Given the description of an element on the screen output the (x, y) to click on. 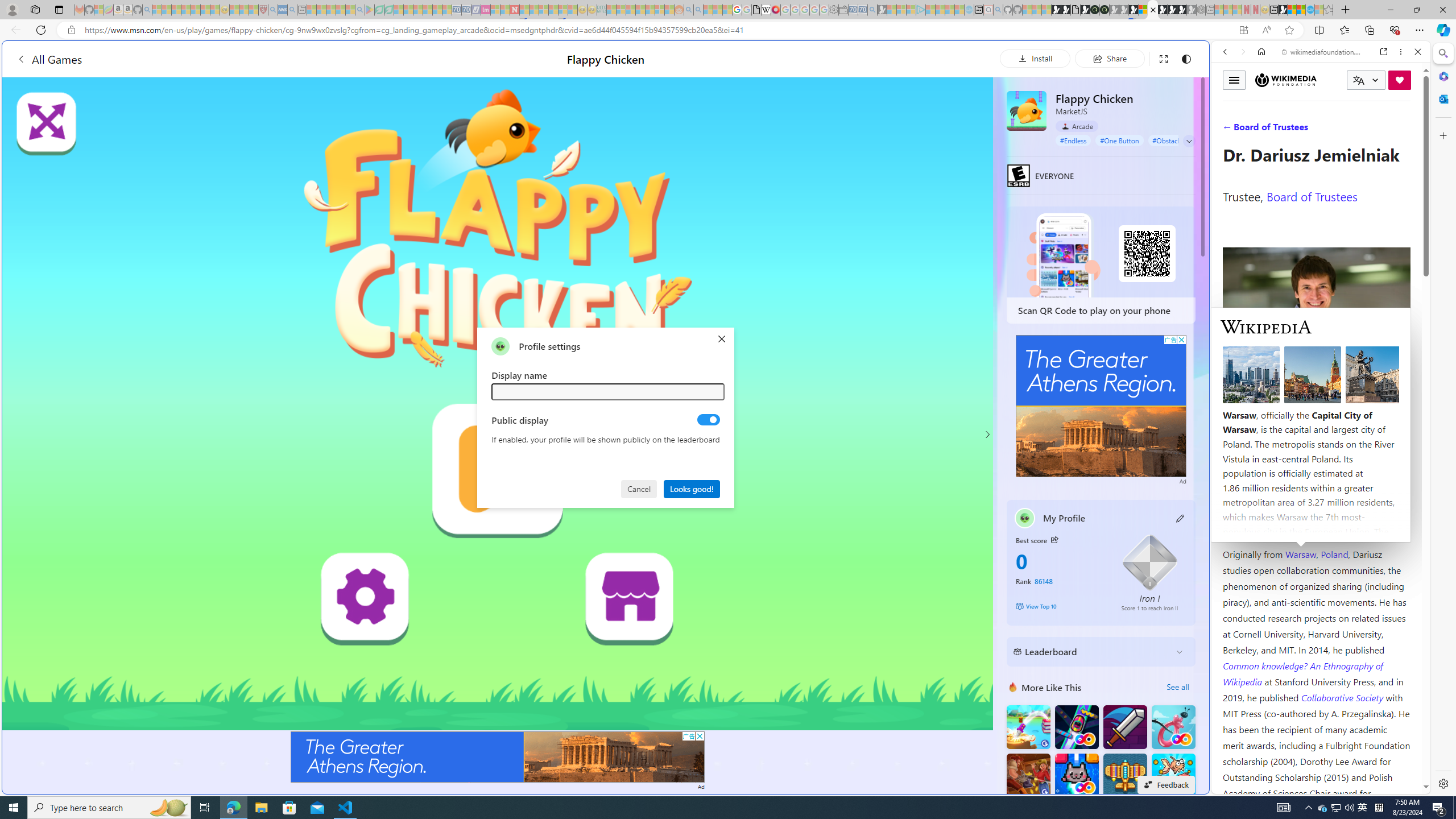
All Games (212, 58)
Pets - MSN - Sleeping (340, 9)
Search Filter, Search Tools (1350, 129)
Close split screen (1208, 57)
Tabs you've opened (885, 151)
Expert Portfolios - Sleeping (639, 9)
